Given the description of an element on the screen output the (x, y) to click on. 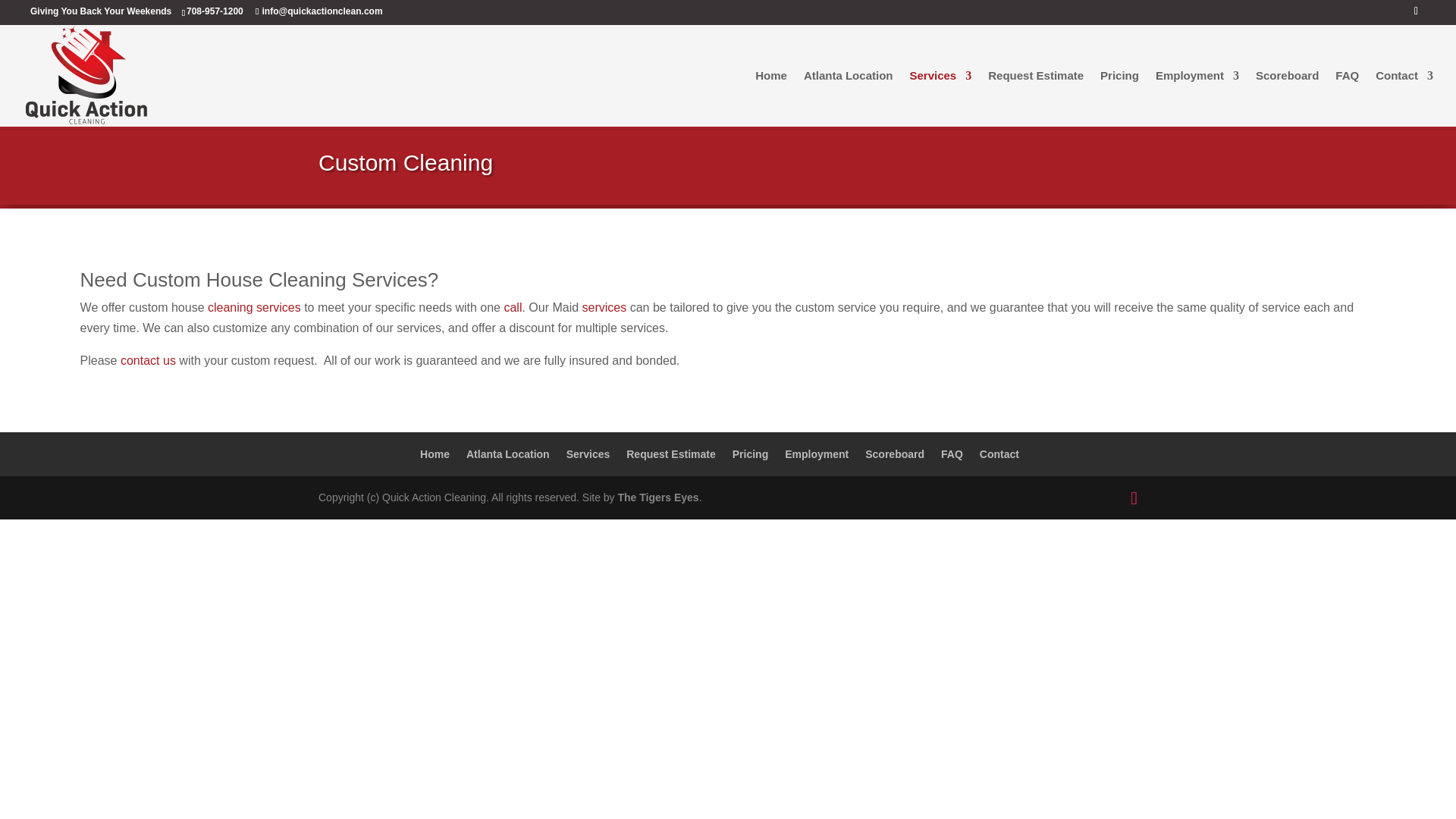
Employment (1197, 97)
Atlanta Location (848, 97)
Scoreboard (1287, 97)
cleaning services (254, 306)
services (604, 306)
Contact (1403, 97)
Atlanta Location (507, 453)
Services (939, 97)
Home (434, 453)
708-957-1200 (217, 10)
call (512, 306)
Request Estimate (1035, 97)
contact us (148, 359)
